Given the description of an element on the screen output the (x, y) to click on. 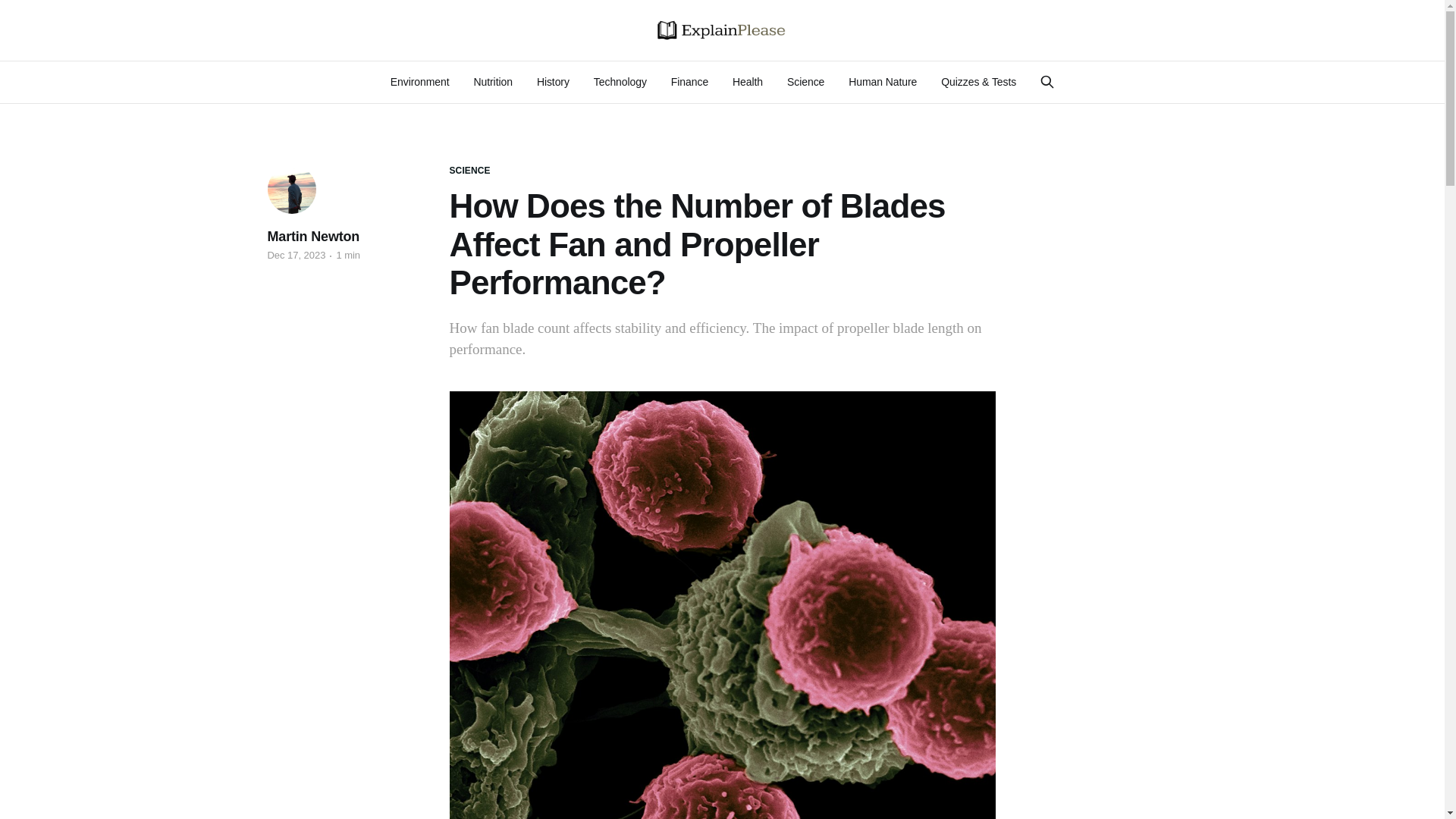
Health (747, 81)
Martin Newton (312, 236)
Finance (689, 81)
Science (805, 81)
Human Nature (882, 81)
Environment (419, 81)
SCIENCE (468, 170)
Technology (620, 81)
History (553, 81)
Nutrition (492, 81)
